Given the description of an element on the screen output the (x, y) to click on. 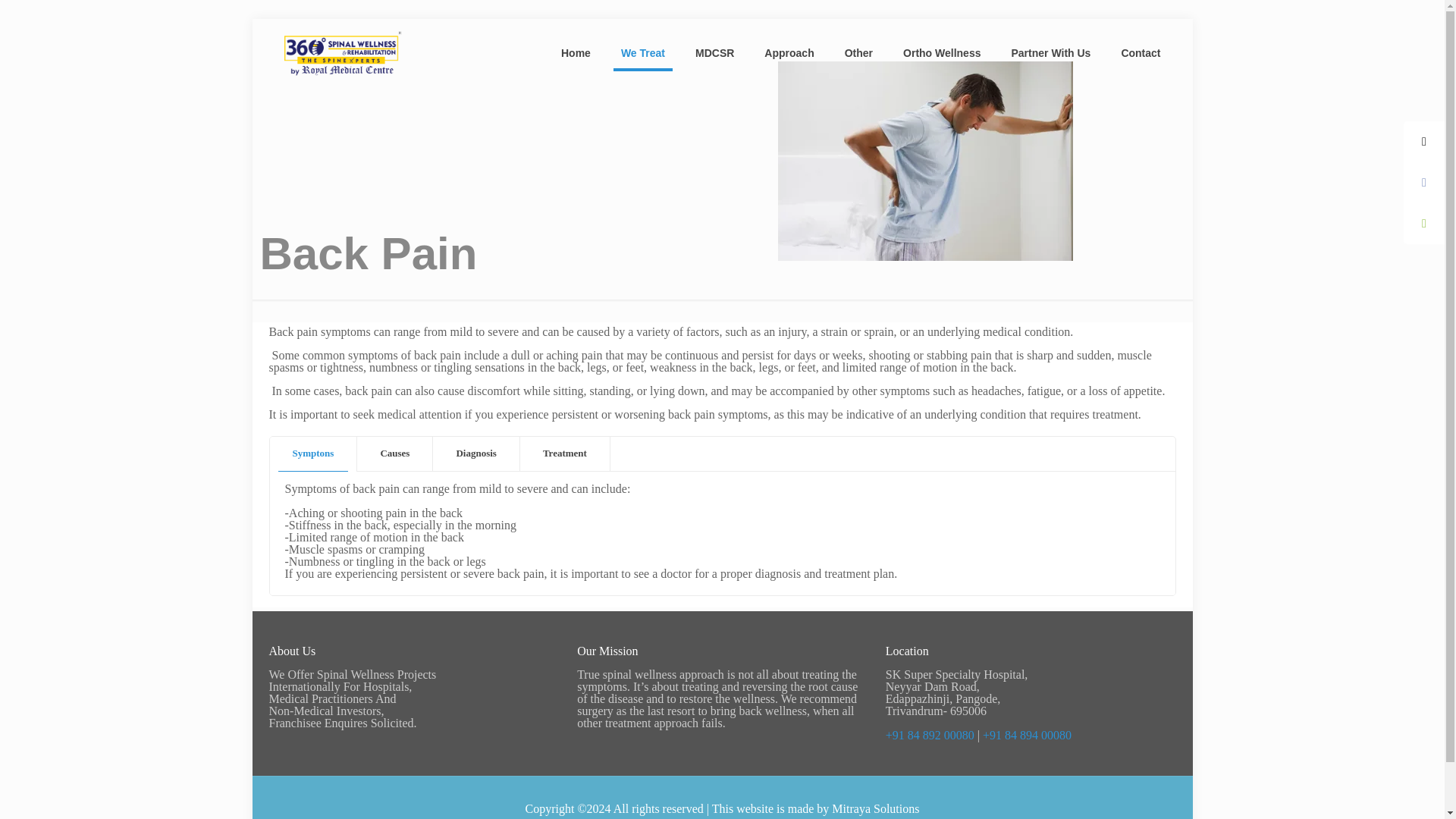
Contact (1139, 52)
Approach (788, 52)
Ortho Wellness (941, 52)
Causes (394, 453)
360 Spinal Wellness (342, 52)
We Treat (642, 52)
Partner With Us (1050, 52)
Symptons (312, 453)
MDCSR (714, 52)
